Given the description of an element on the screen output the (x, y) to click on. 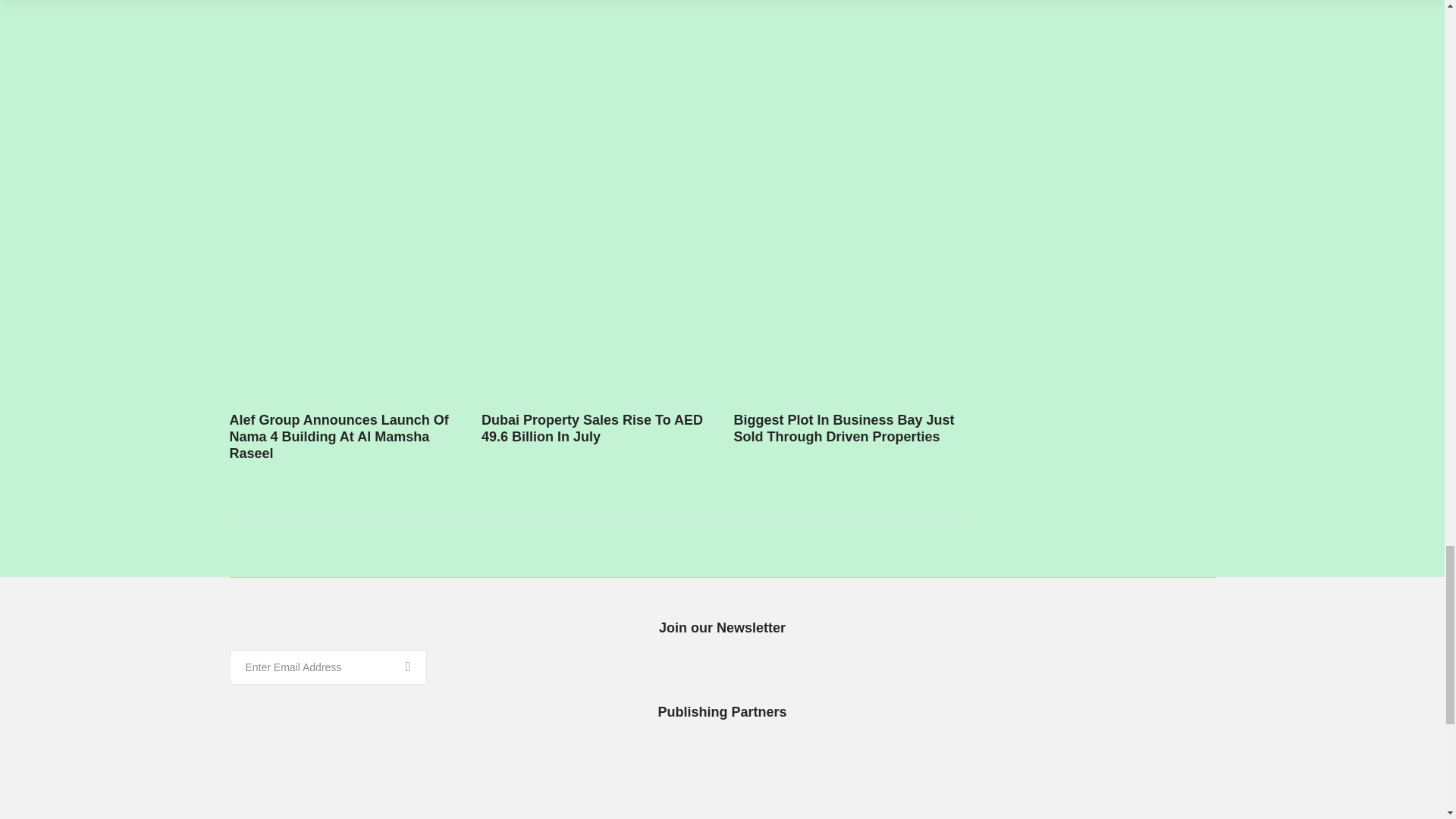
Dubai Property Sales Rise To AED 49.6 Billion In July (592, 428)
Dubai Property Sales Rise To AED 49.6 Billion In July (592, 428)
